Given the description of an element on the screen output the (x, y) to click on. 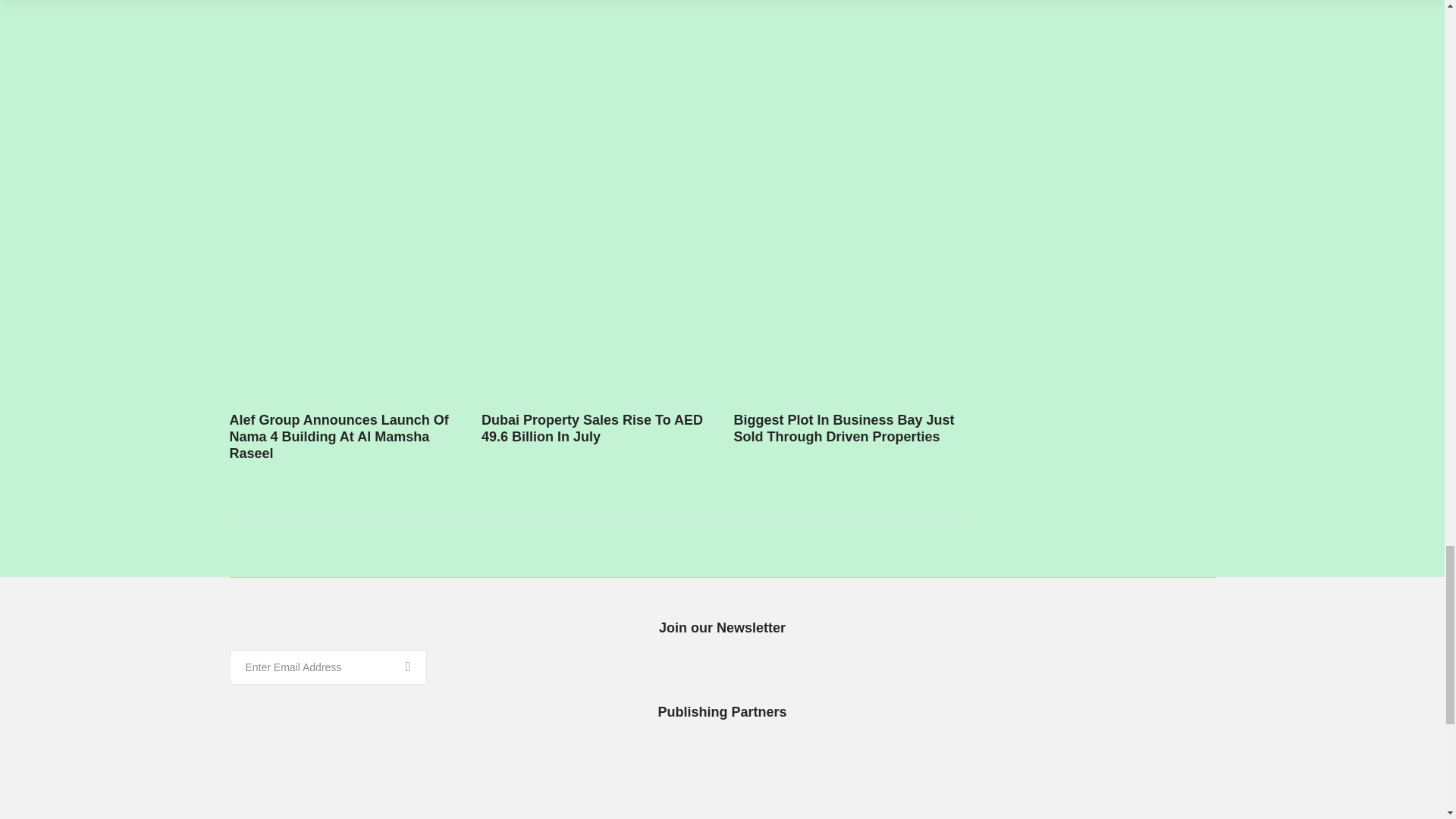
Dubai Property Sales Rise To AED 49.6 Billion In July (592, 428)
Dubai Property Sales Rise To AED 49.6 Billion In July (592, 428)
